Given the description of an element on the screen output the (x, y) to click on. 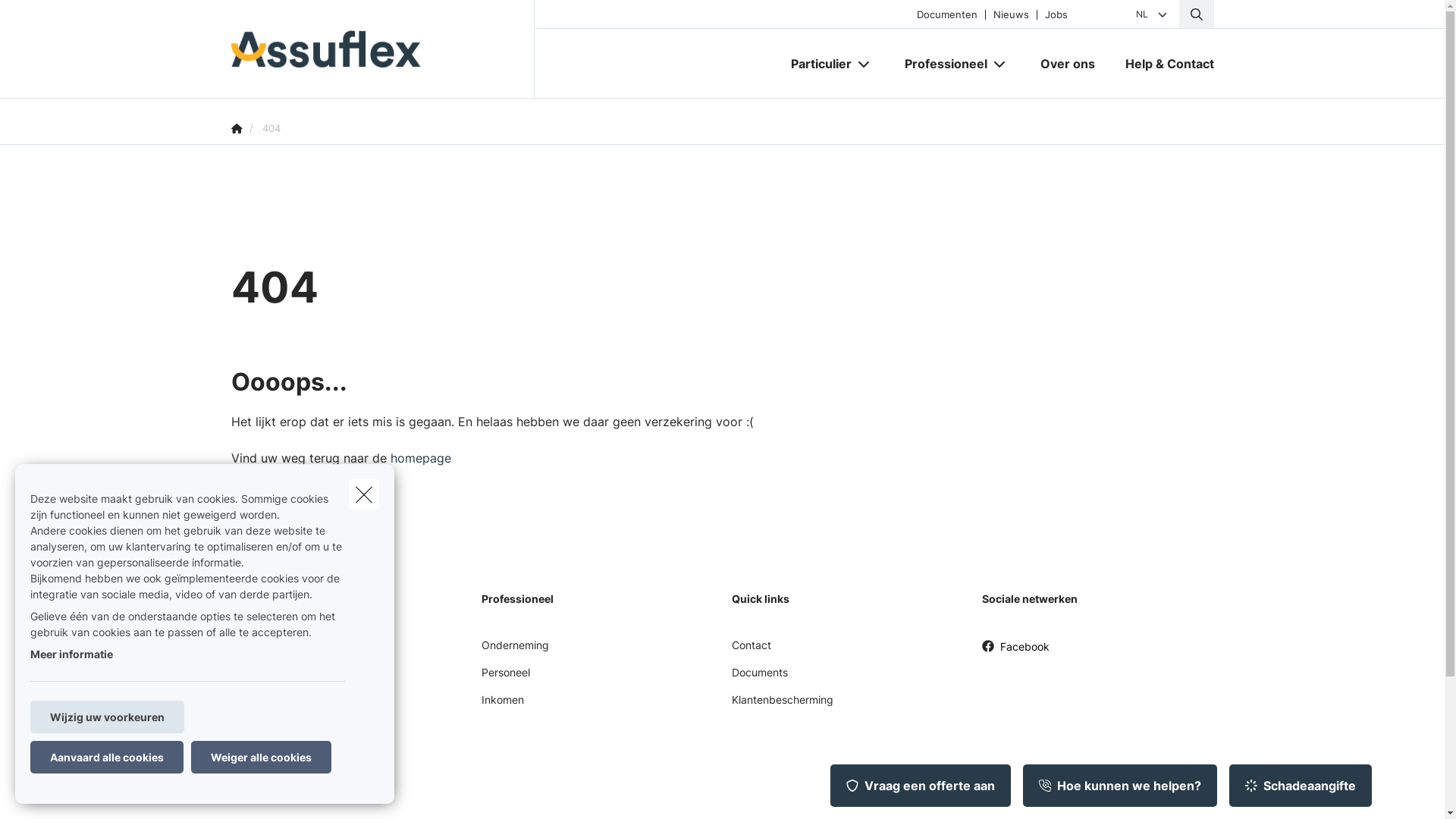
Vraag een offerte aan Element type: text (920, 785)
Nieuws Element type: text (1009, 13)
Aanvaard alle cookies Element type: text (106, 756)
Hospitalisatie Element type: text (263, 732)
Sparen en beleggen Element type: text (280, 759)
homepage Element type: text (419, 457)
Gezin en rechtsbijstand Element type: text (288, 704)
Zoeken Element type: text (42, 18)
Help & Contact Element type: text (1162, 63)
Documenten Element type: text (946, 13)
Onderneming Element type: text (514, 650)
Schadeaangifte Element type: text (1300, 785)
Over ons Element type: text (1067, 63)
Weiger alle cookies Element type: text (261, 756)
Woning Element type: text (248, 677)
Klantenbescherming Element type: text (781, 704)
Jobs Element type: text (1054, 13)
Mobiliteit Element type: text (252, 650)
Documents Element type: text (759, 677)
Hoe kunnen we helpen? Element type: text (1119, 785)
Contact Element type: text (750, 650)
Meer informatie Element type: text (71, 653)
Personeel Element type: text (504, 677)
Inkomen Element type: text (501, 704)
Facebook Element type: text (1014, 651)
Particulier Element type: text (814, 63)
Professioneel Element type: text (939, 63)
Pensioen Element type: text (252, 786)
Wijzig uw voorkeuren Element type: text (107, 716)
